Given the description of an element on the screen output the (x, y) to click on. 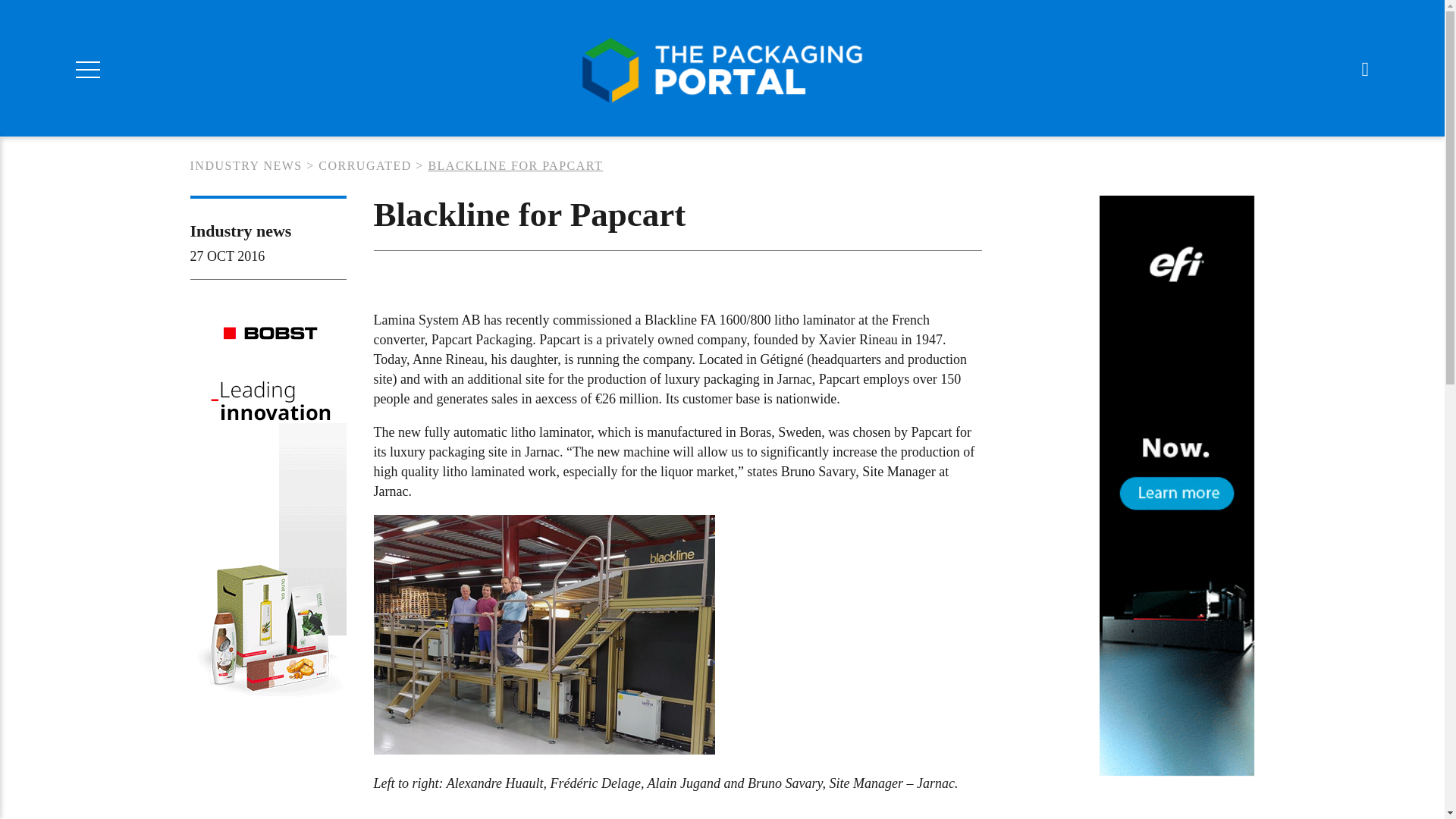
Go to the Corrugated Categories archives. (365, 164)
INDUSTRY NEWS (245, 164)
CORRUGATED (365, 164)
Go to Industry news. (245, 164)
